Given the description of an element on the screen output the (x, y) to click on. 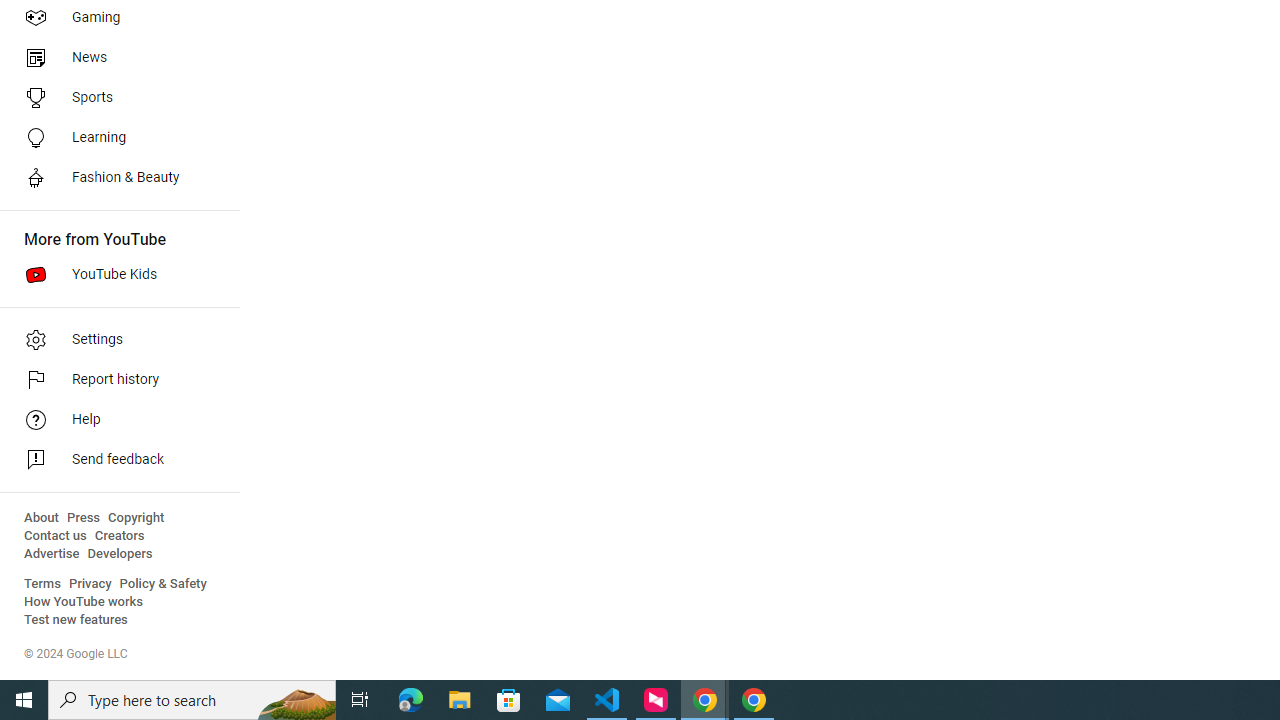
How YouTube works (83, 602)
Report history (113, 380)
About (41, 518)
Advertise (51, 554)
Sports (113, 97)
Contact us (55, 536)
Send feedback (113, 459)
Copyright (136, 518)
Creators (118, 536)
Test new features (76, 620)
News (113, 57)
Developers (120, 554)
